Given the description of an element on the screen output the (x, y) to click on. 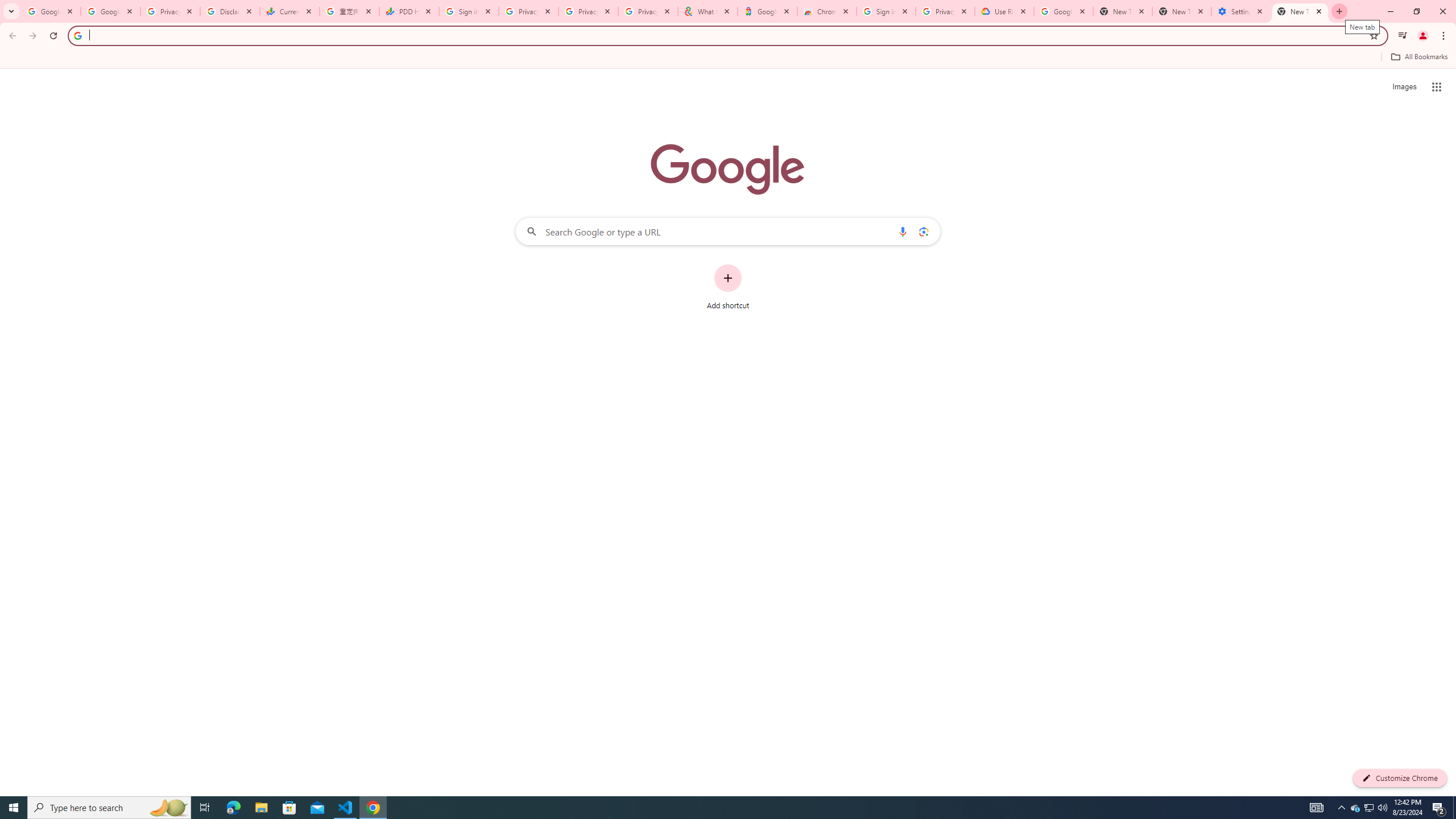
Privacy Checkup (647, 11)
Google Workspace Admin Community (50, 11)
